Given the description of an element on the screen output the (x, y) to click on. 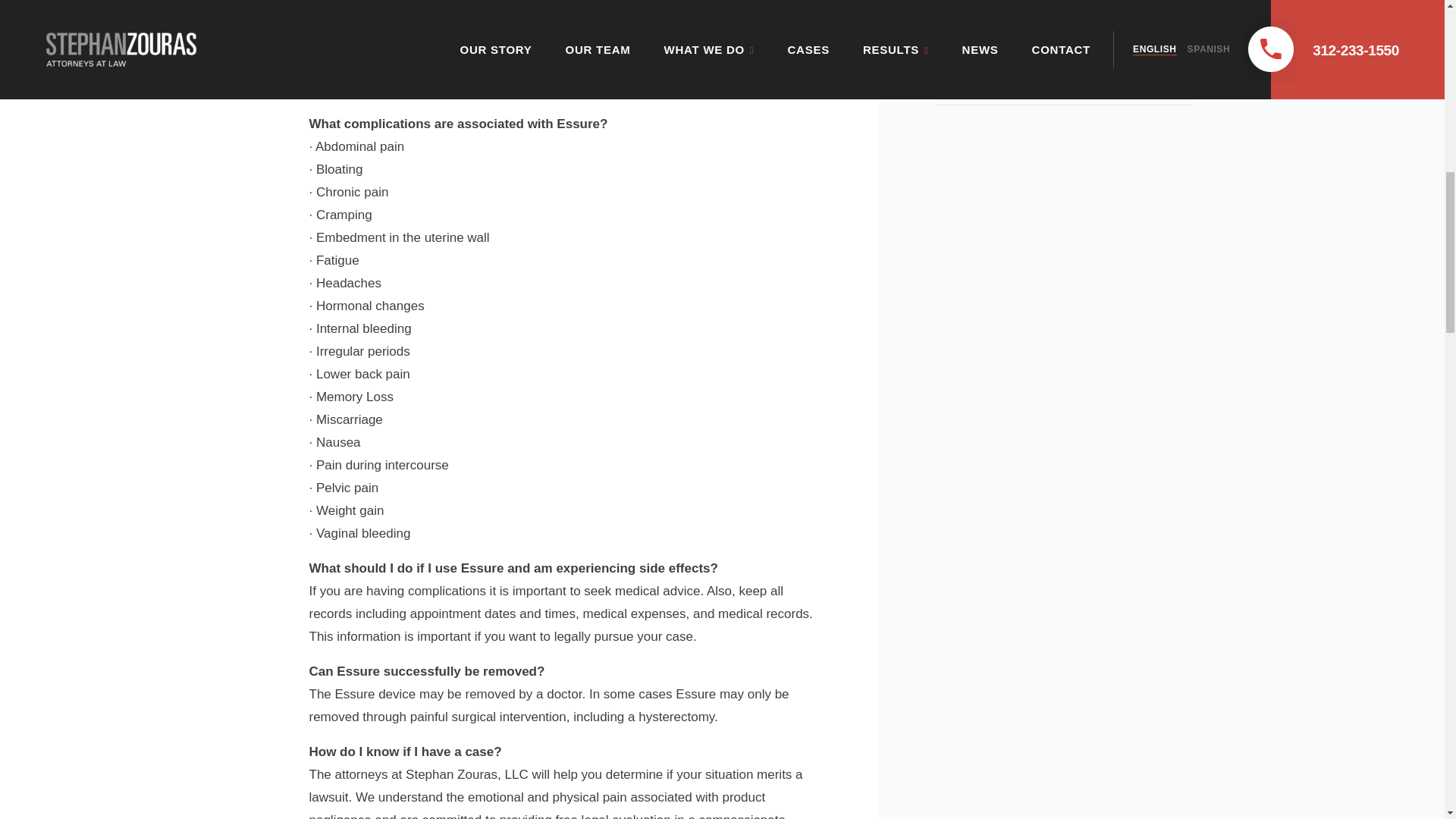
Stephan Zouras, LLC Names New Partner Anna M. Ceragioli (1064, 2)
